Given the description of an element on the screen output the (x, y) to click on. 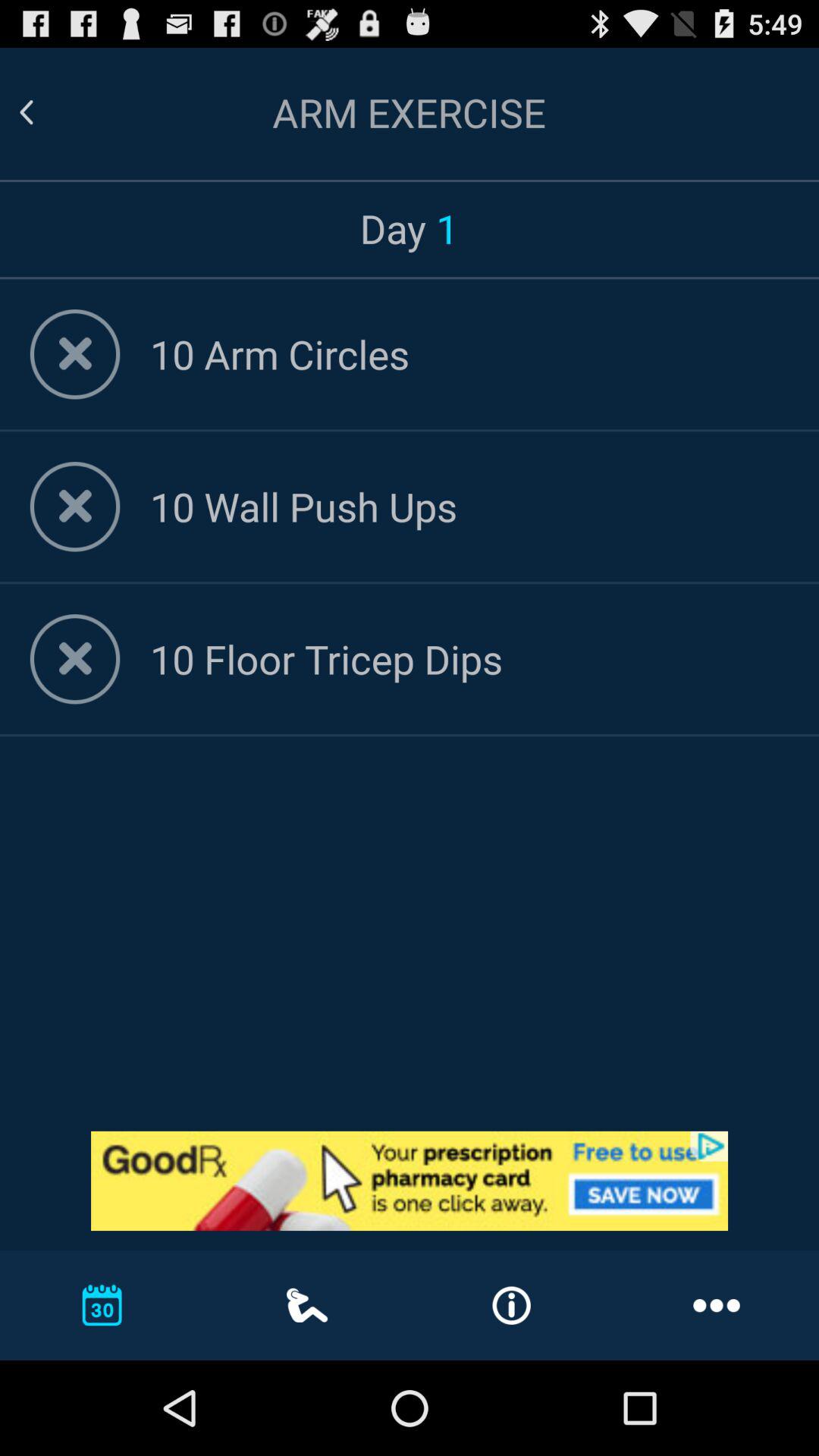
go to advertisement website (409, 1180)
